Given the description of an element on the screen output the (x, y) to click on. 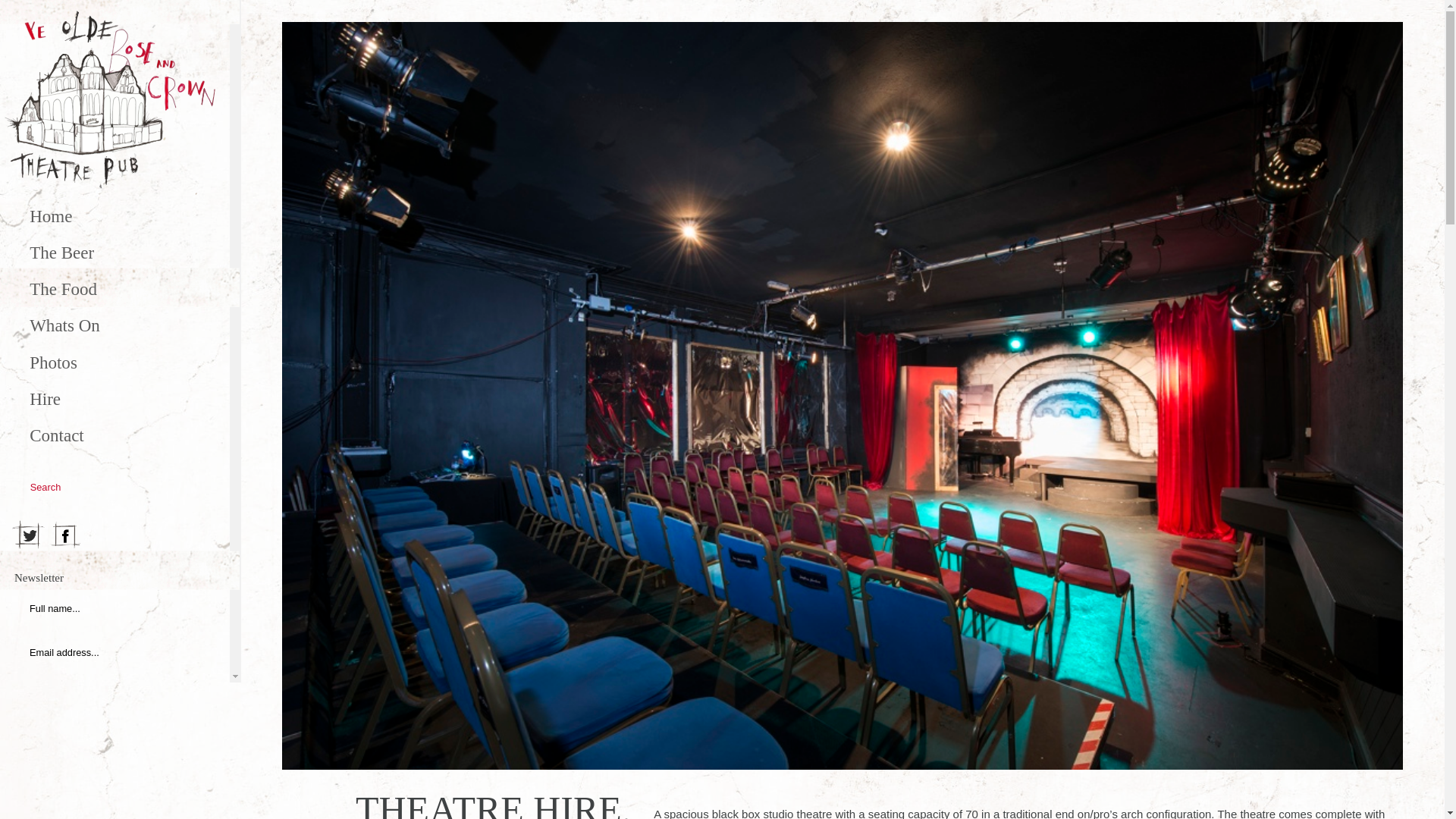
Twitter (29, 534)
Hire (113, 402)
Submit (188, 652)
Instagram (102, 534)
The Beer (113, 256)
Photos (113, 365)
Home (113, 218)
The Food (113, 292)
Contact (113, 438)
Search (195, 485)
